Given the description of an element on the screen output the (x, y) to click on. 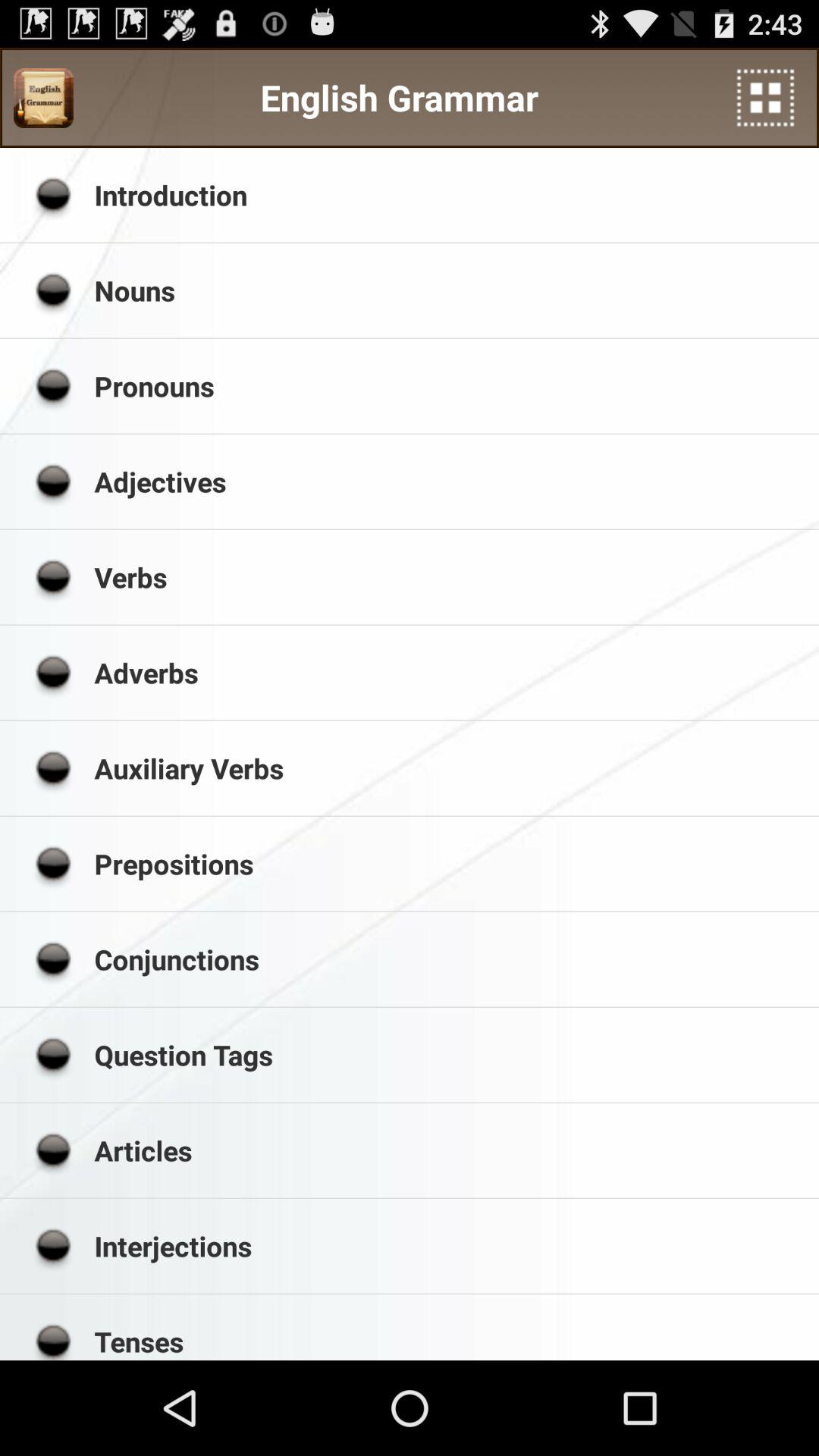
launch the articles icon (451, 1150)
